Given the description of an element on the screen output the (x, y) to click on. 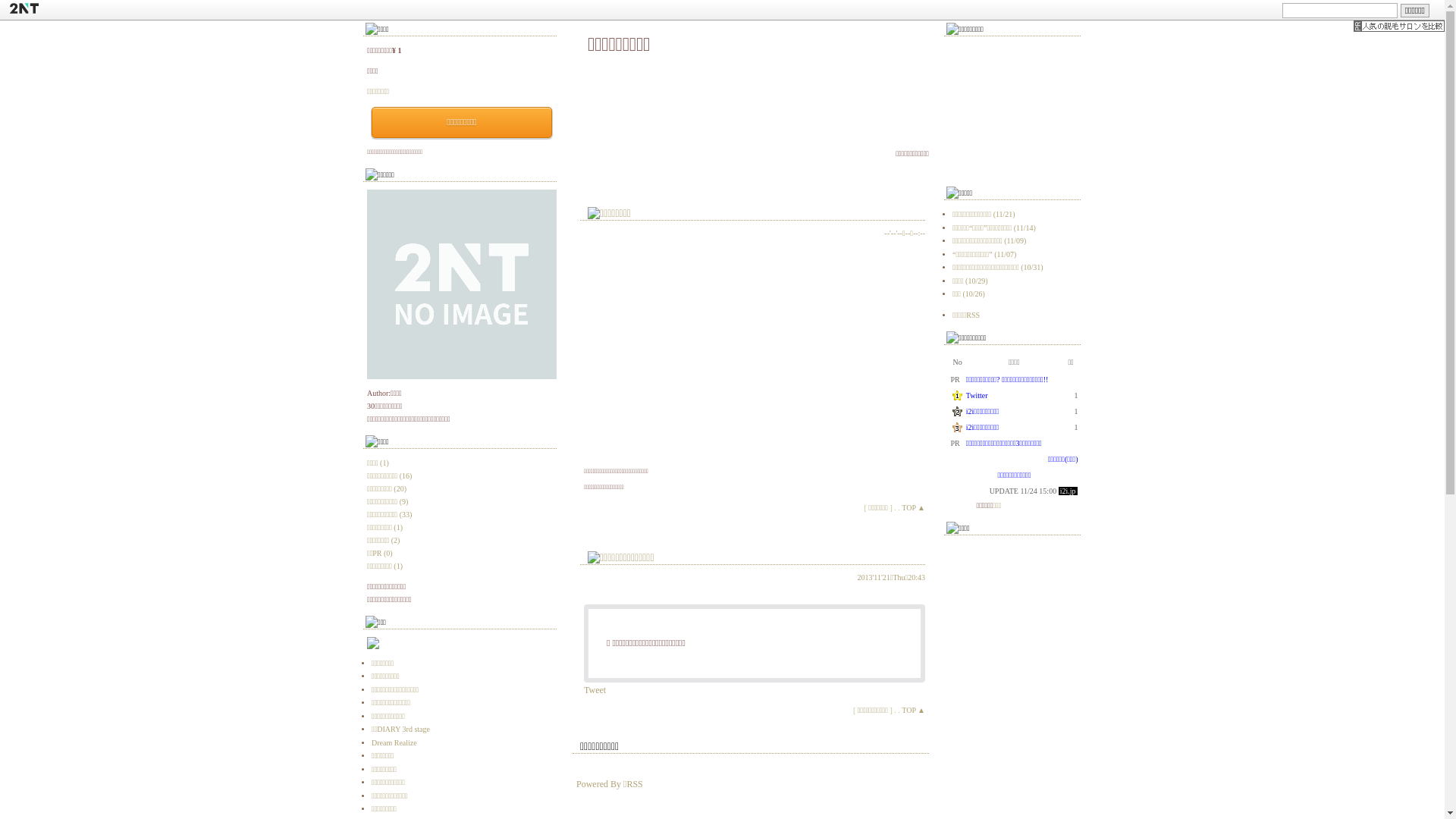
Dream Realize Element type: text (394, 742)
Twitter Element type: text (977, 395)
i2i.jp Element type: text (1067, 490)
Tweet Element type: text (594, 689)
